Given the description of an element on the screen output the (x, y) to click on. 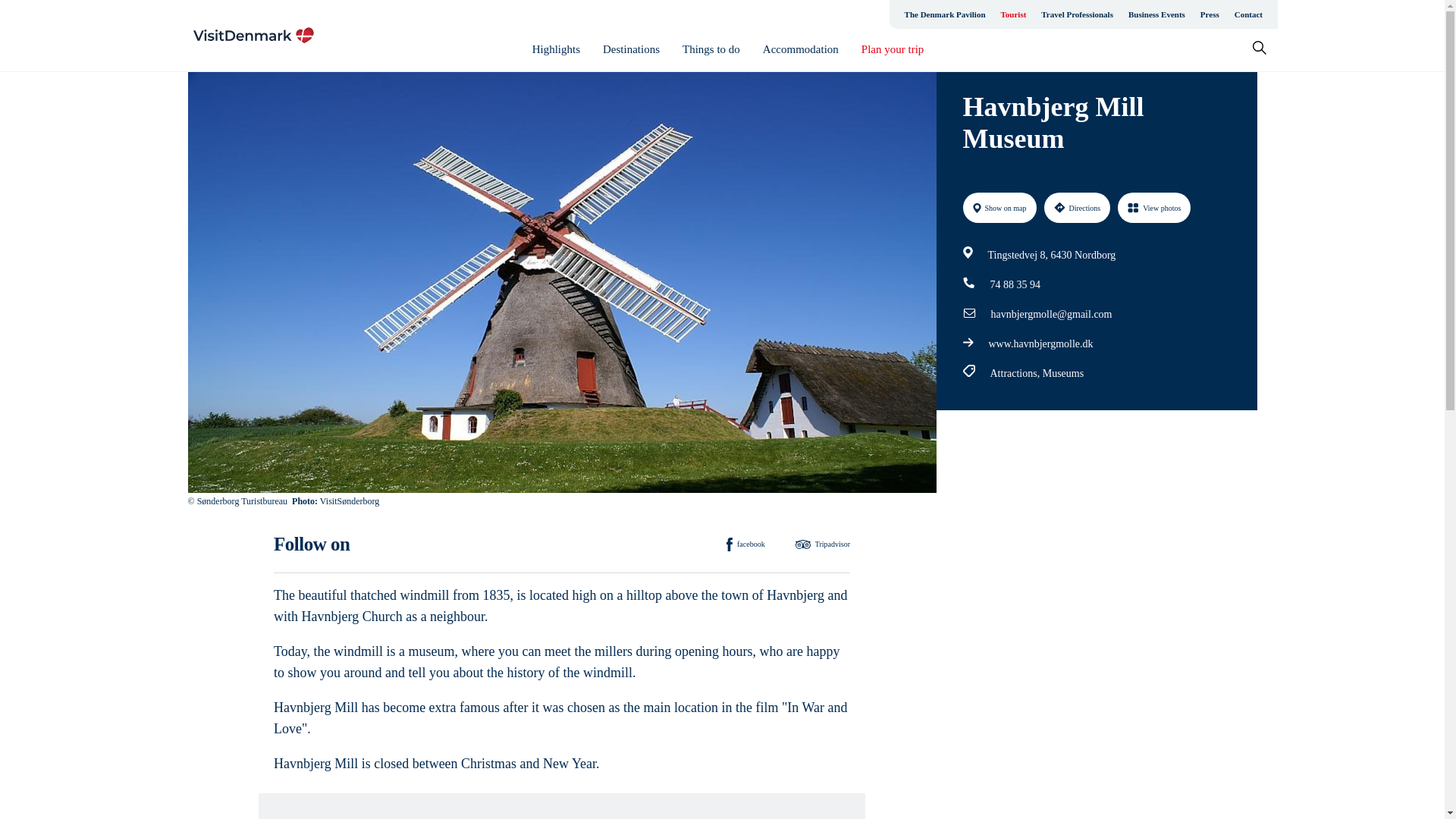
TRIPADVISOR RATING (1127, 447)
Highlights (555, 49)
Tourist (1012, 14)
Business Events (1156, 14)
Press (1209, 14)
facebook (745, 543)
Contact (1248, 14)
Plan your trip (892, 49)
Accommodation (800, 49)
Path (968, 282)
